Given the description of an element on the screen output the (x, y) to click on. 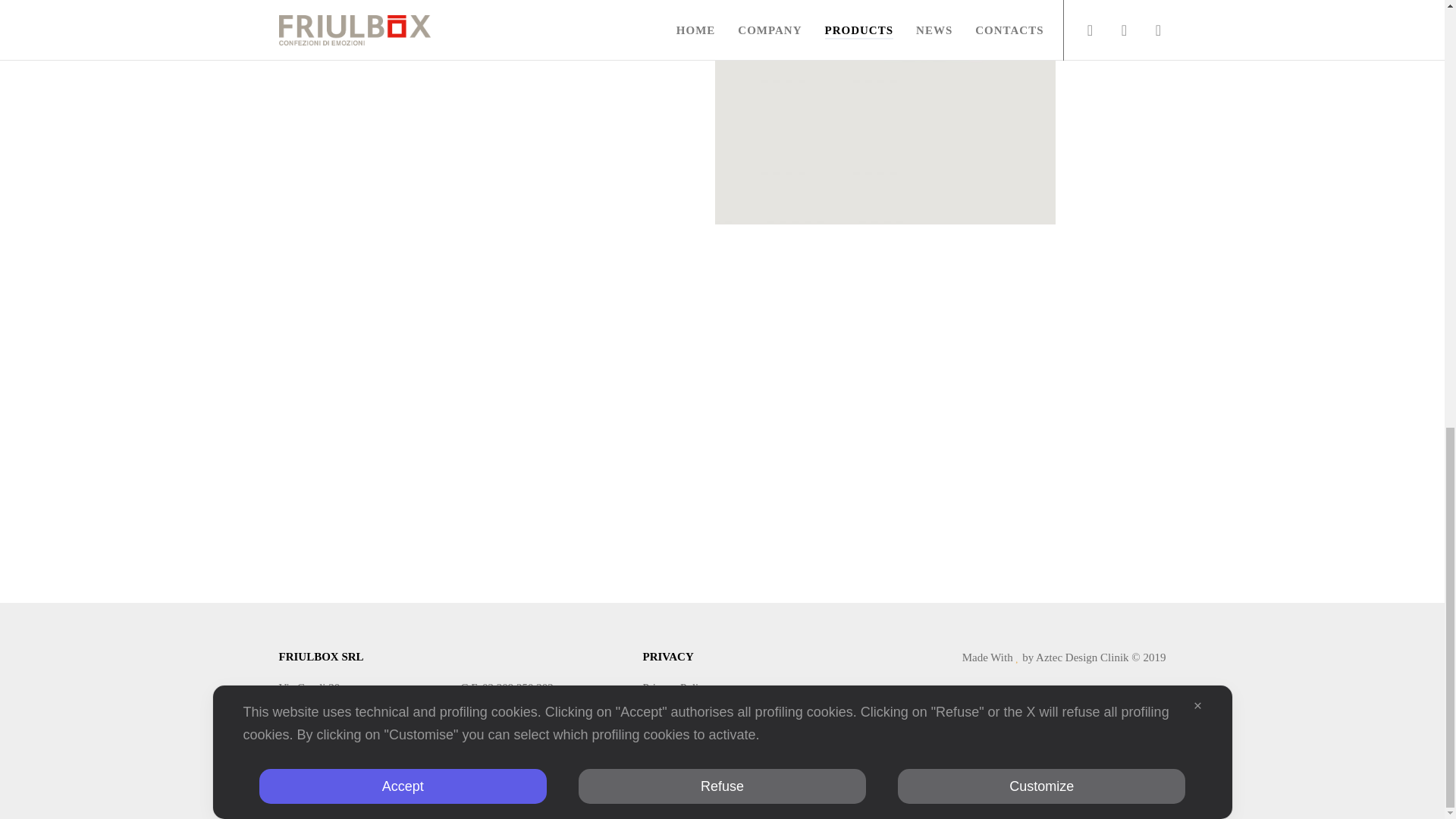
Cookie Policy (675, 706)
Aztec Design Clinik (1081, 657)
Privacy Policy (676, 687)
